Given the description of an element on the screen output the (x, y) to click on. 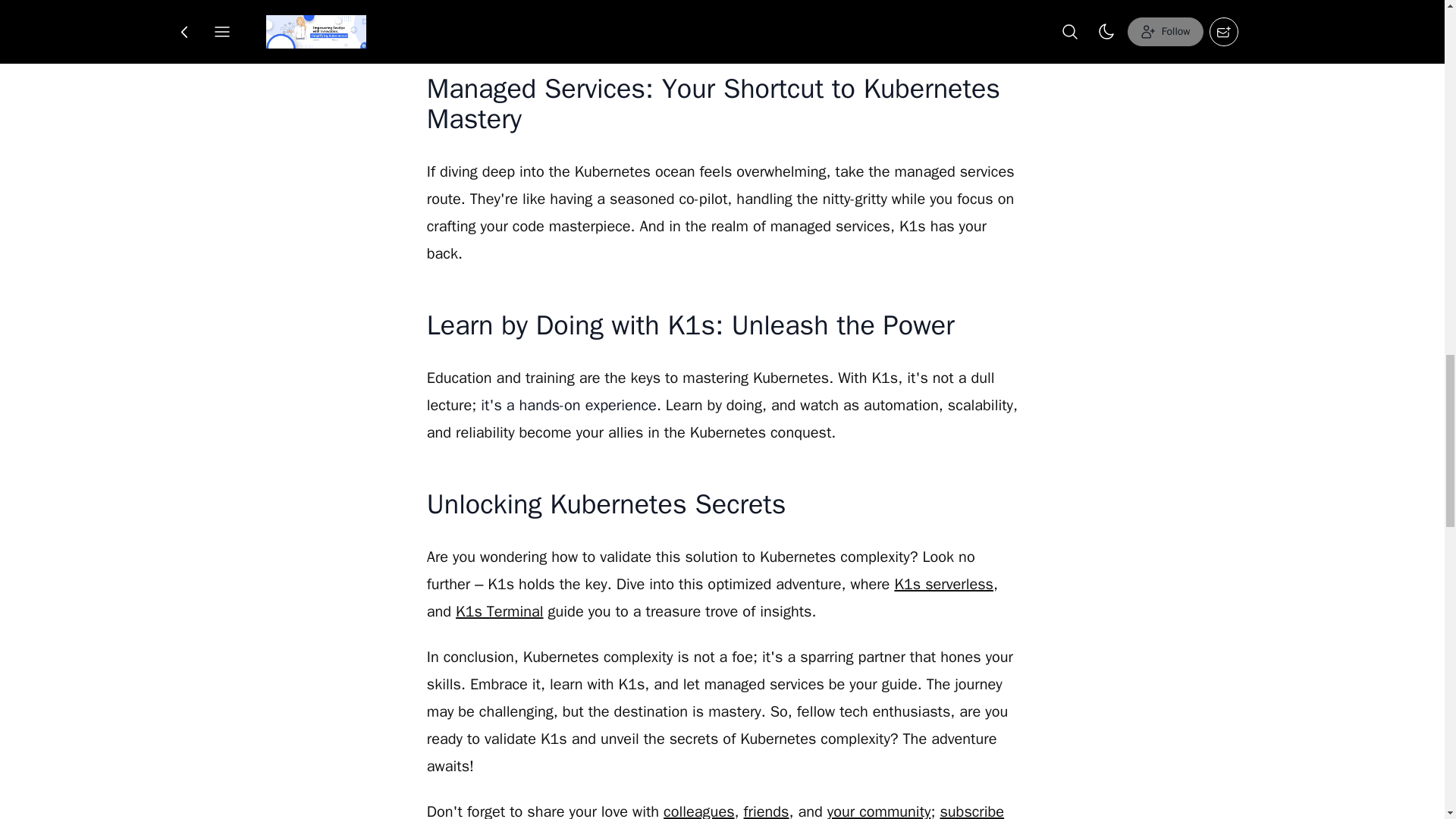
K1s serverless (942, 583)
colleagues (698, 810)
friends (766, 810)
subscribe (971, 810)
K1s Terminal (499, 610)
your community (879, 810)
